Given the description of an element on the screen output the (x, y) to click on. 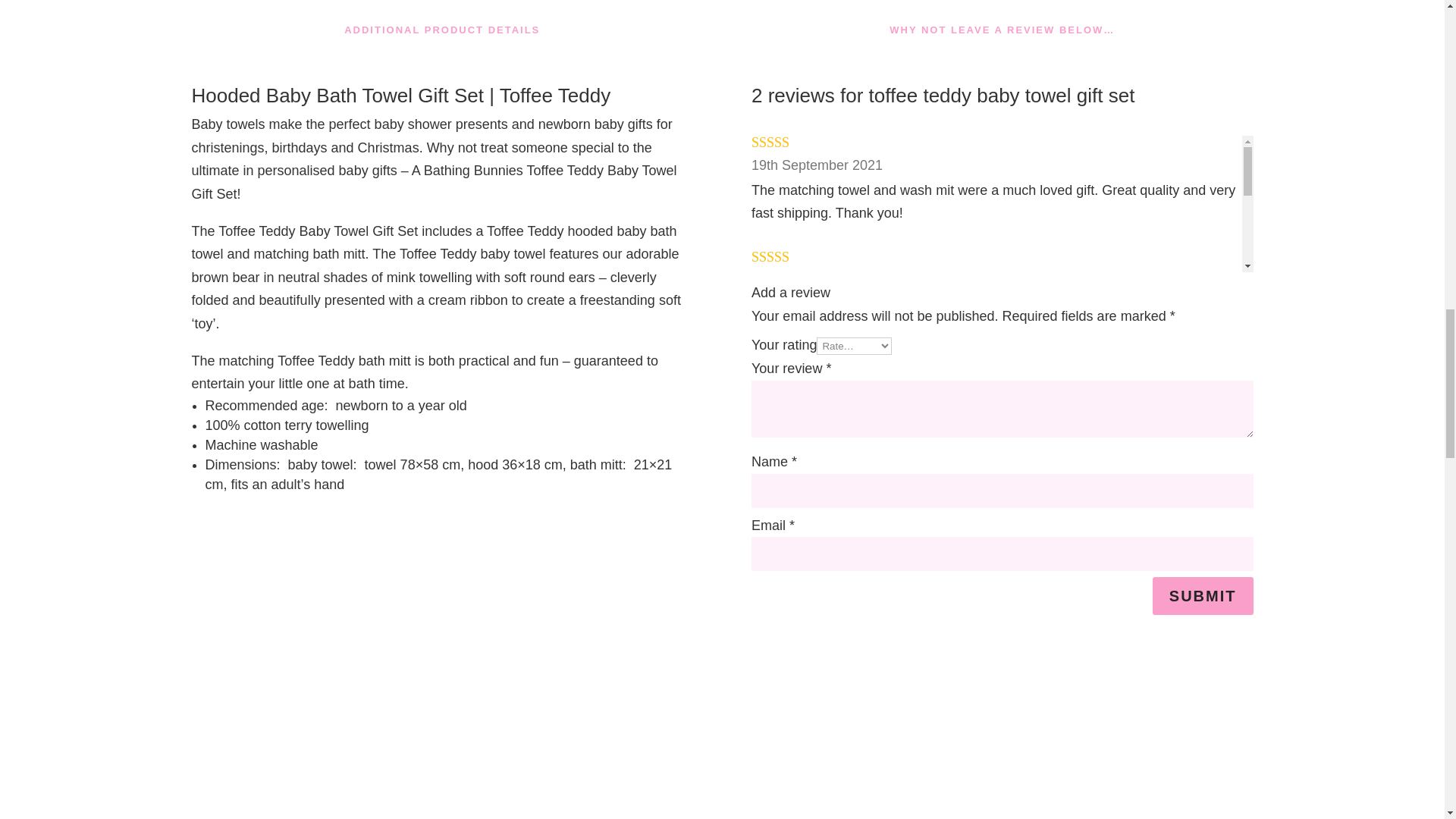
SUBMIT (1203, 596)
